Given the description of an element on the screen output the (x, y) to click on. 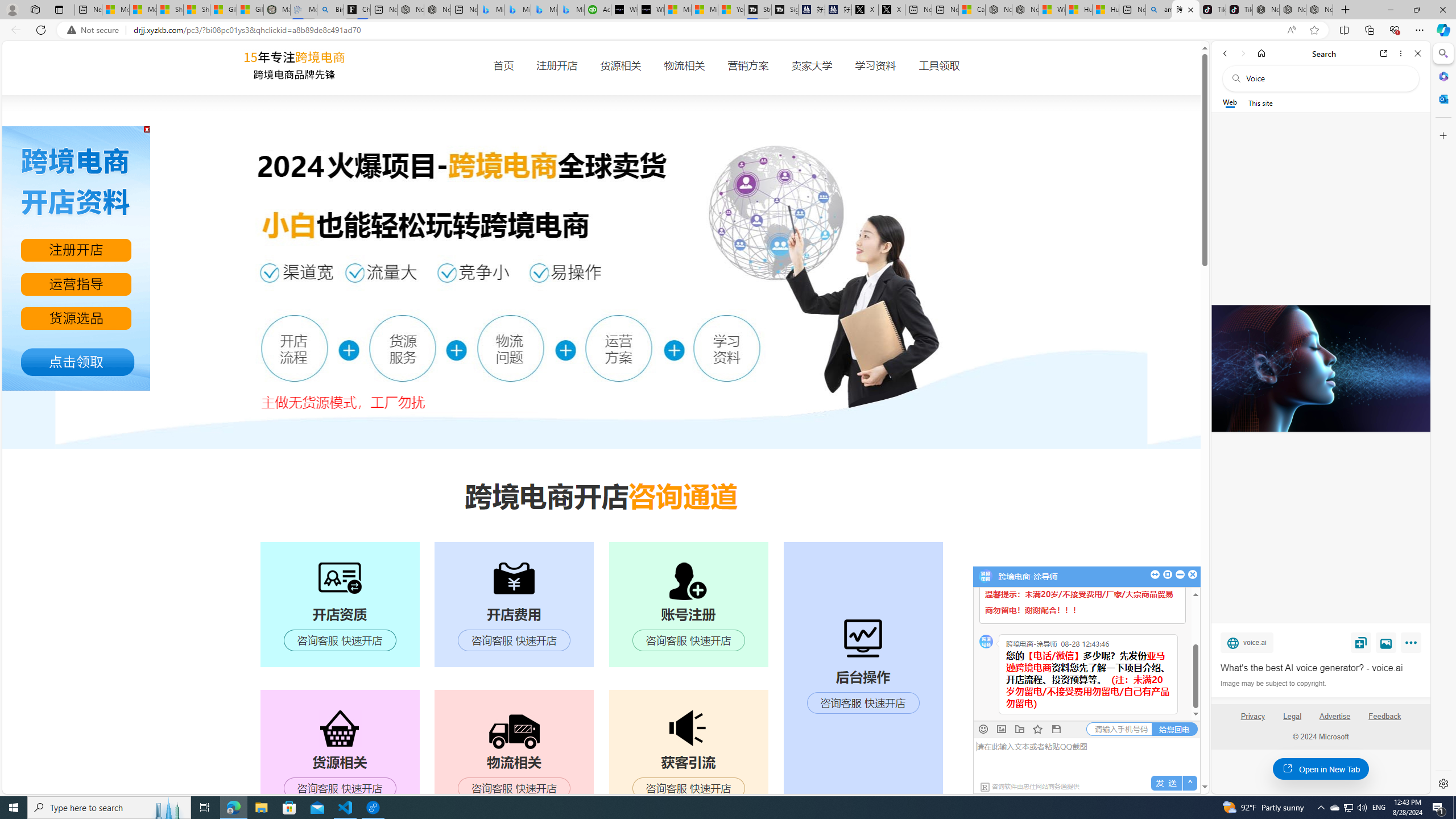
Legal (1291, 715)
Save (1361, 642)
This site scope (1259, 102)
Legal (1292, 720)
